Given the description of an element on the screen output the (x, y) to click on. 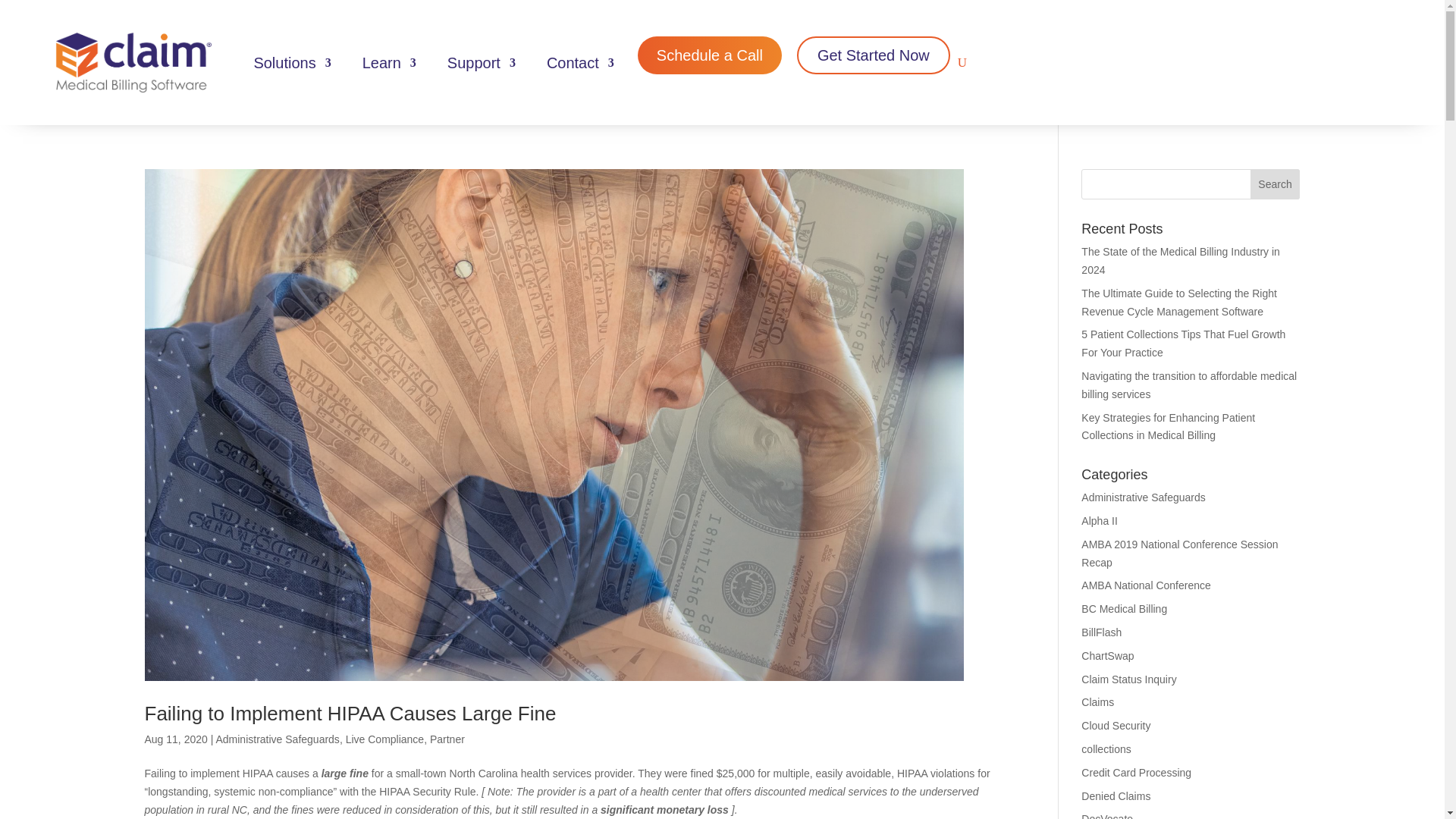
Partner (446, 739)
Search (1275, 183)
Learn (381, 62)
Contact (573, 62)
Support (473, 62)
Failing to Implement HIPAA Causes Large Fine (350, 712)
Live Compliance (385, 739)
Schedule a Call (709, 55)
Solutions (284, 62)
Administrative Safeguards (277, 739)
